Given the description of an element on the screen output the (x, y) to click on. 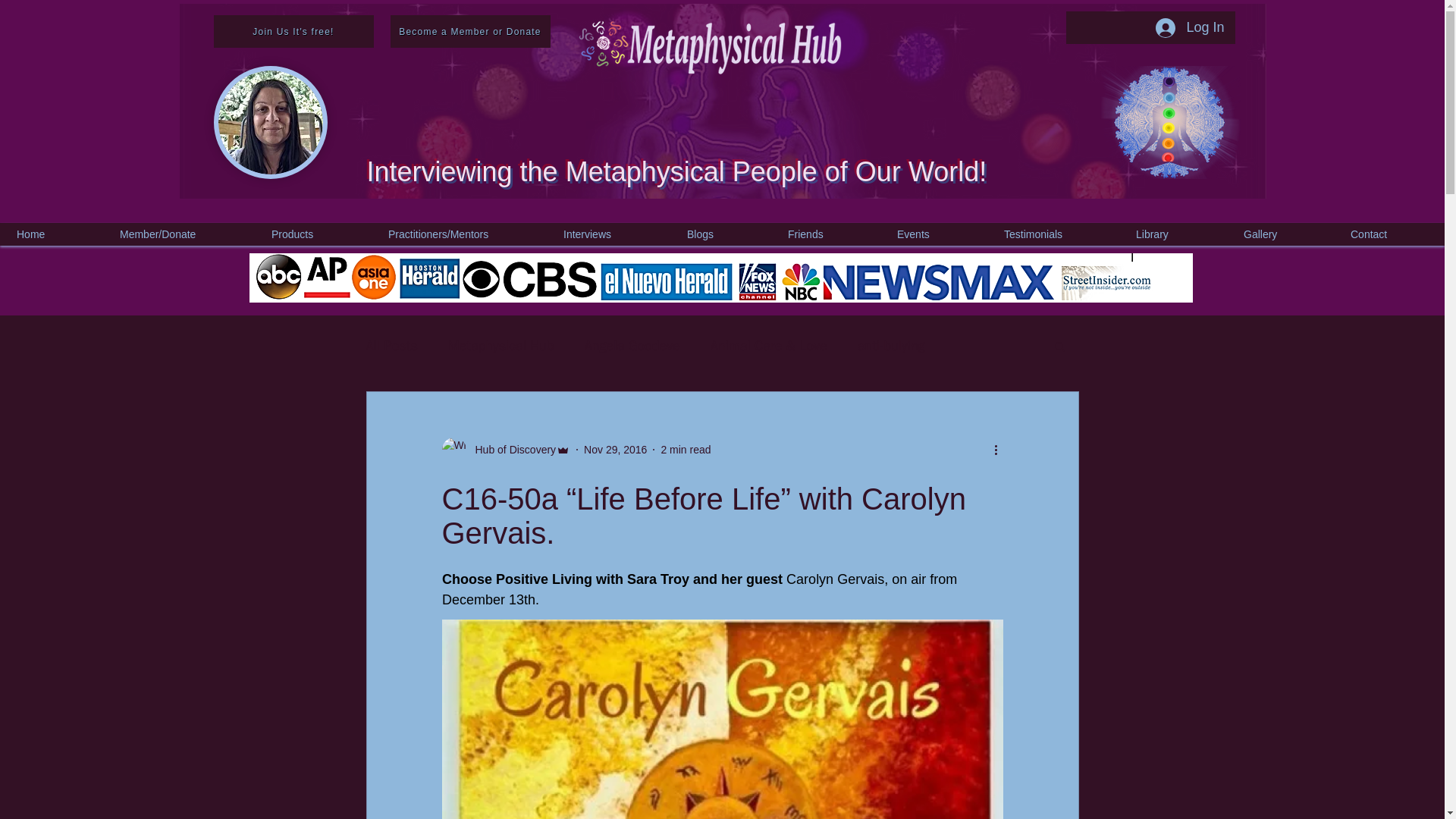
All Posts (390, 345)
Home (53, 234)
2 min read (685, 449)
Events (935, 234)
Angela Goodeve (632, 345)
Library (1174, 234)
Metaphysical Hub (501, 345)
Gallery (1281, 234)
Products (315, 234)
Become a Member or Donate (470, 31)
Interviews (609, 234)
anti-bulying (890, 345)
Log In (1189, 27)
Join Us It's free! (294, 31)
Hub of Discovery  (510, 449)
